Given the description of an element on the screen output the (x, y) to click on. 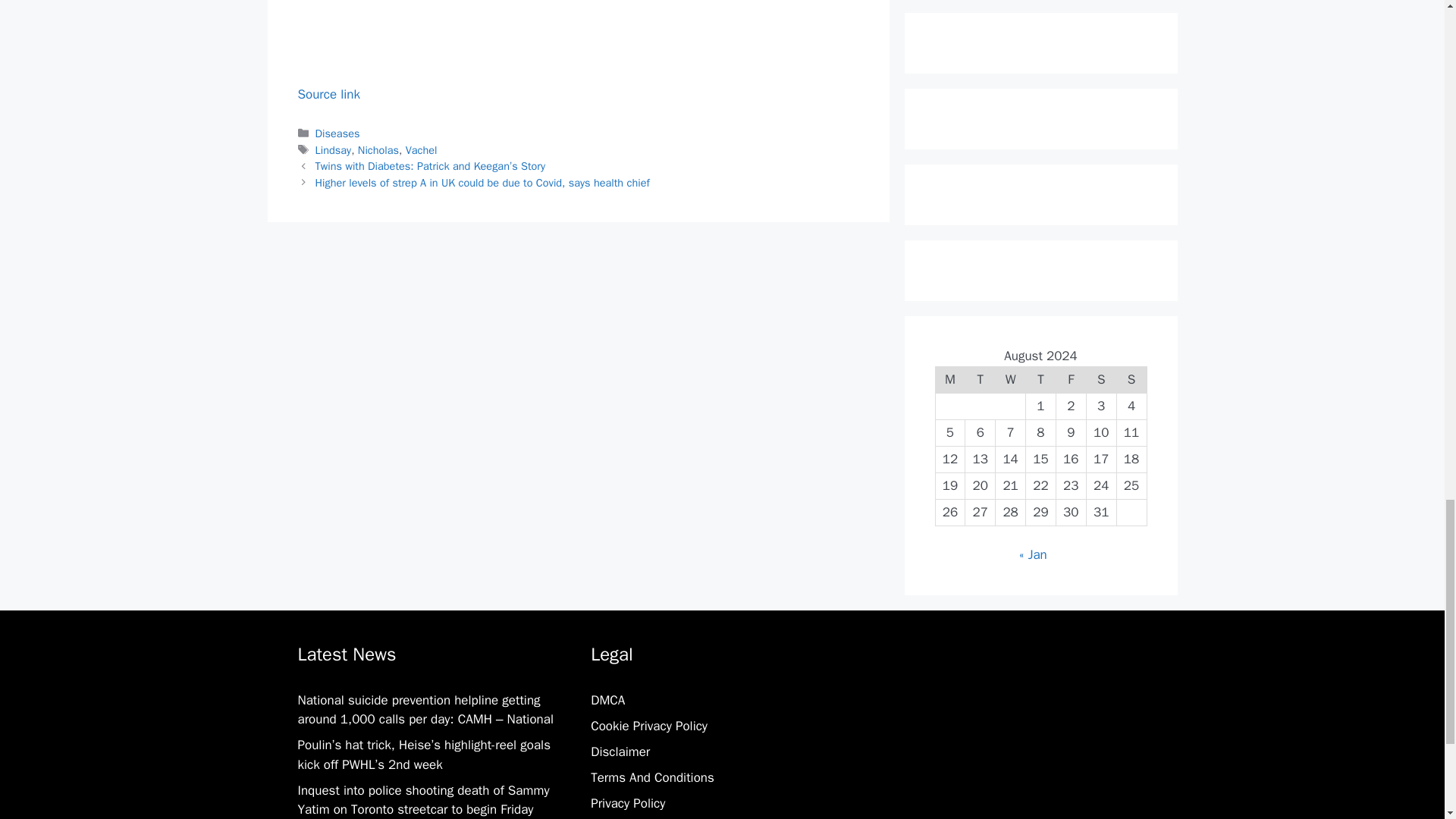
Nicholas (378, 150)
Friday (1070, 379)
Thursday (1041, 379)
Monday (949, 379)
Lindsay (333, 150)
Source link (328, 94)
Diseases (337, 133)
Tuesday (980, 379)
Wednesday (1010, 379)
Vachel (422, 150)
